Given the description of an element on the screen output the (x, y) to click on. 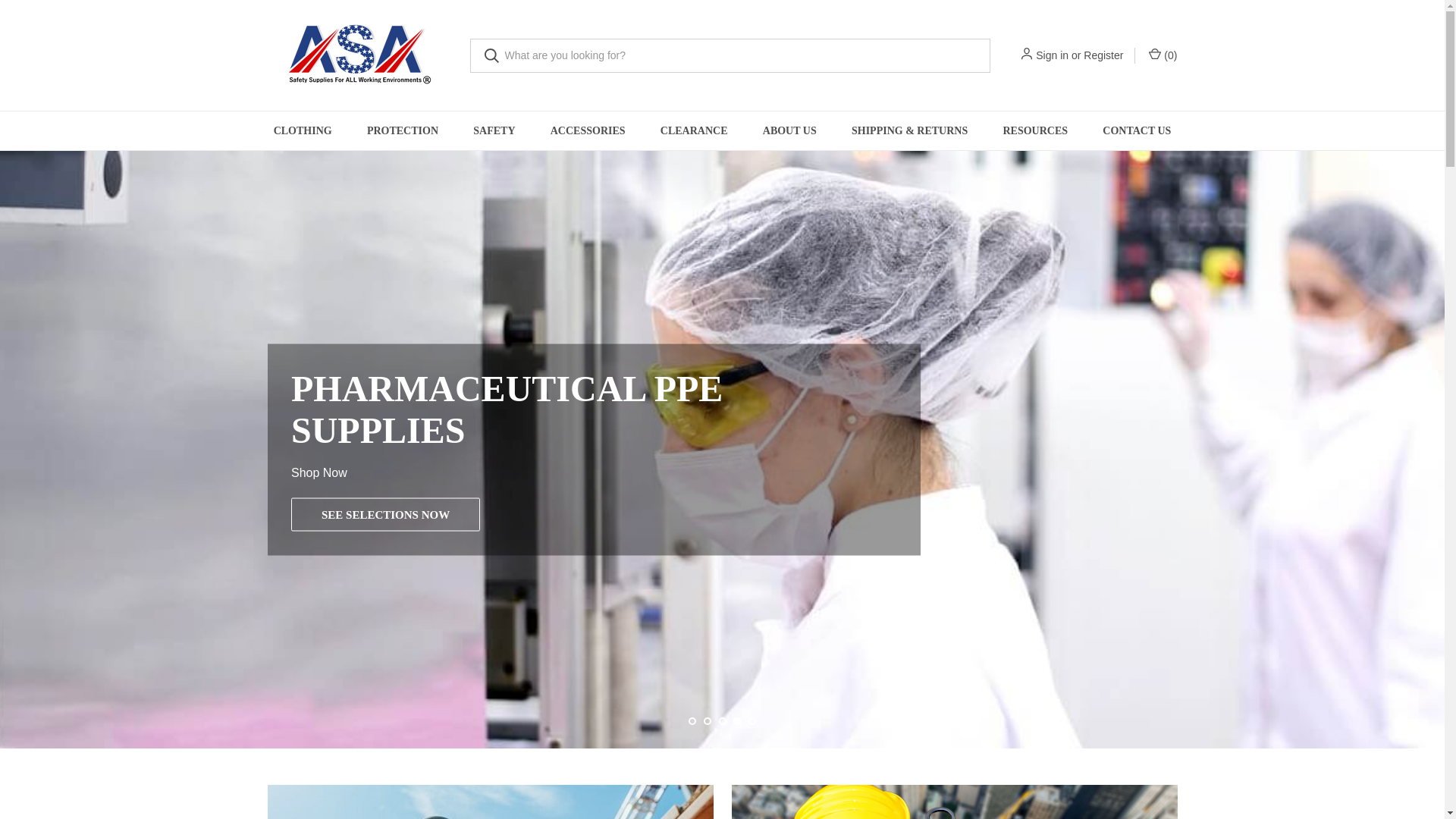
Register (1102, 54)
PROTECTION (402, 130)
fall-protection (953, 801)
American Safety Associates, LLC (357, 55)
CLOTHING (302, 130)
Sign in (1051, 54)
high-visibility-clothes (489, 801)
